Given the description of an element on the screen output the (x, y) to click on. 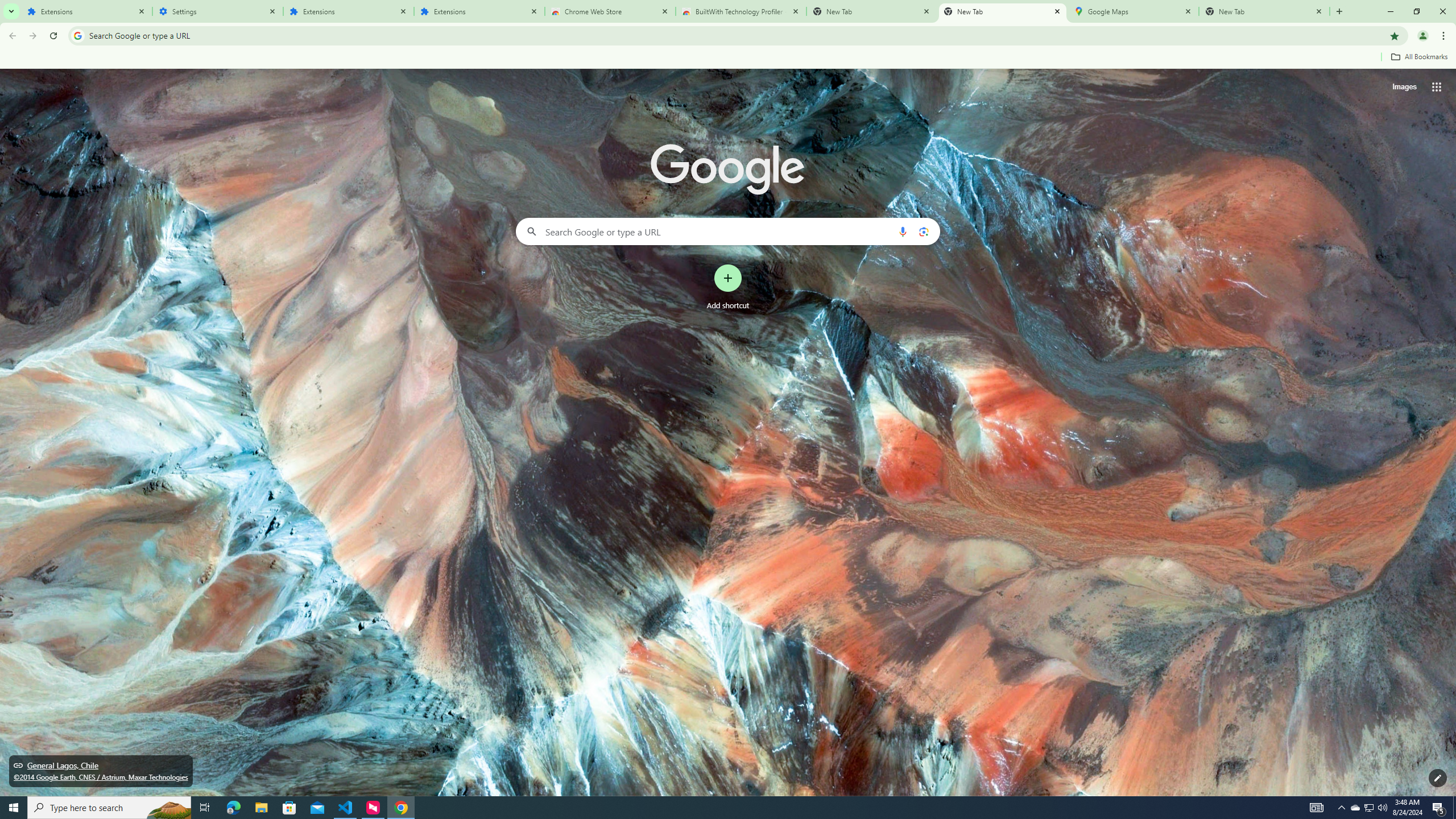
Settings (217, 11)
New Tab (1002, 11)
New Tab (1264, 11)
BuiltWith Technology Profiler - Chrome Web Store (740, 11)
Extensions (348, 11)
